Given the description of an element on the screen output the (x, y) to click on. 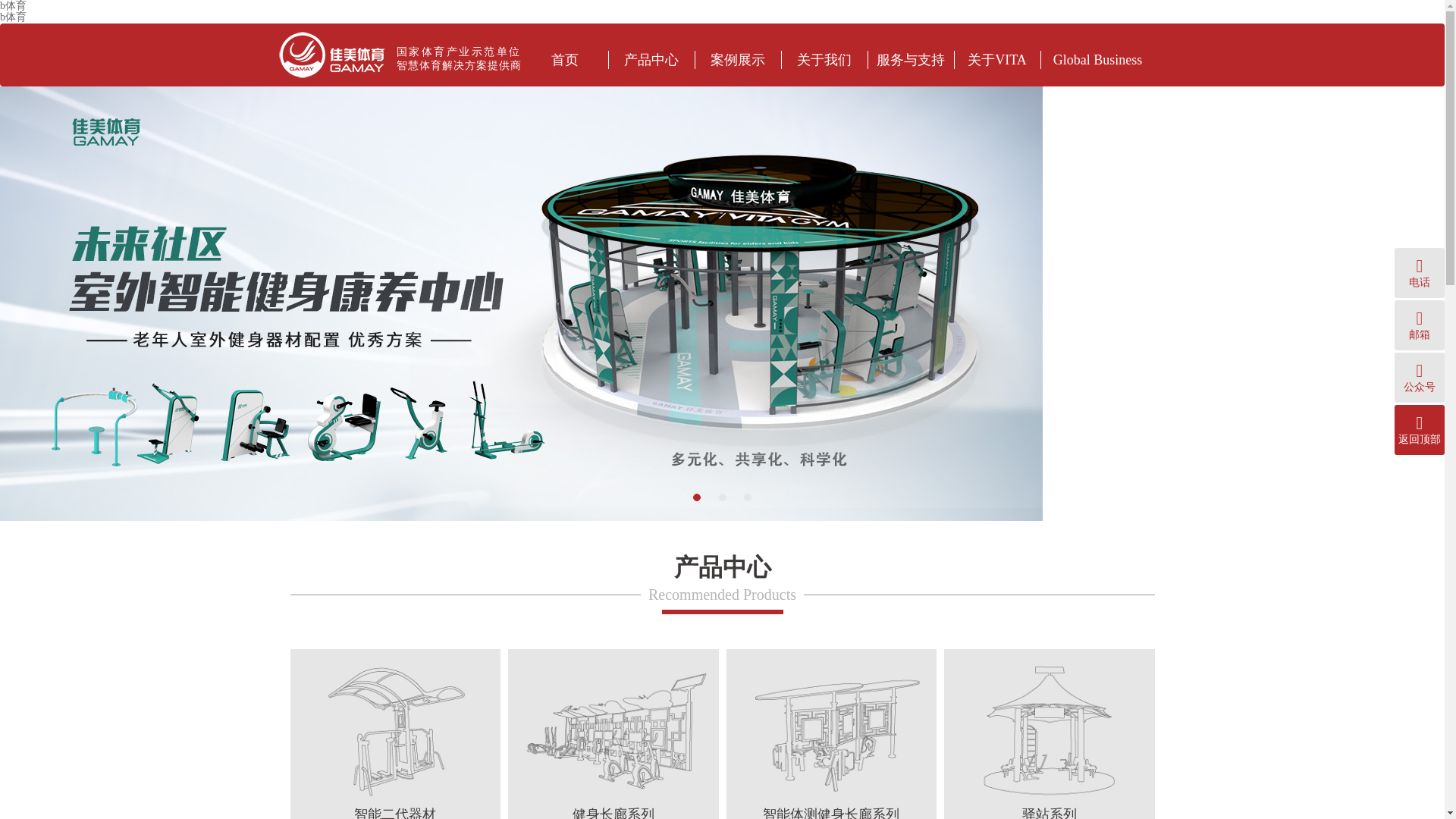
Global Business (1097, 59)
